Given the description of an element on the screen output the (x, y) to click on. 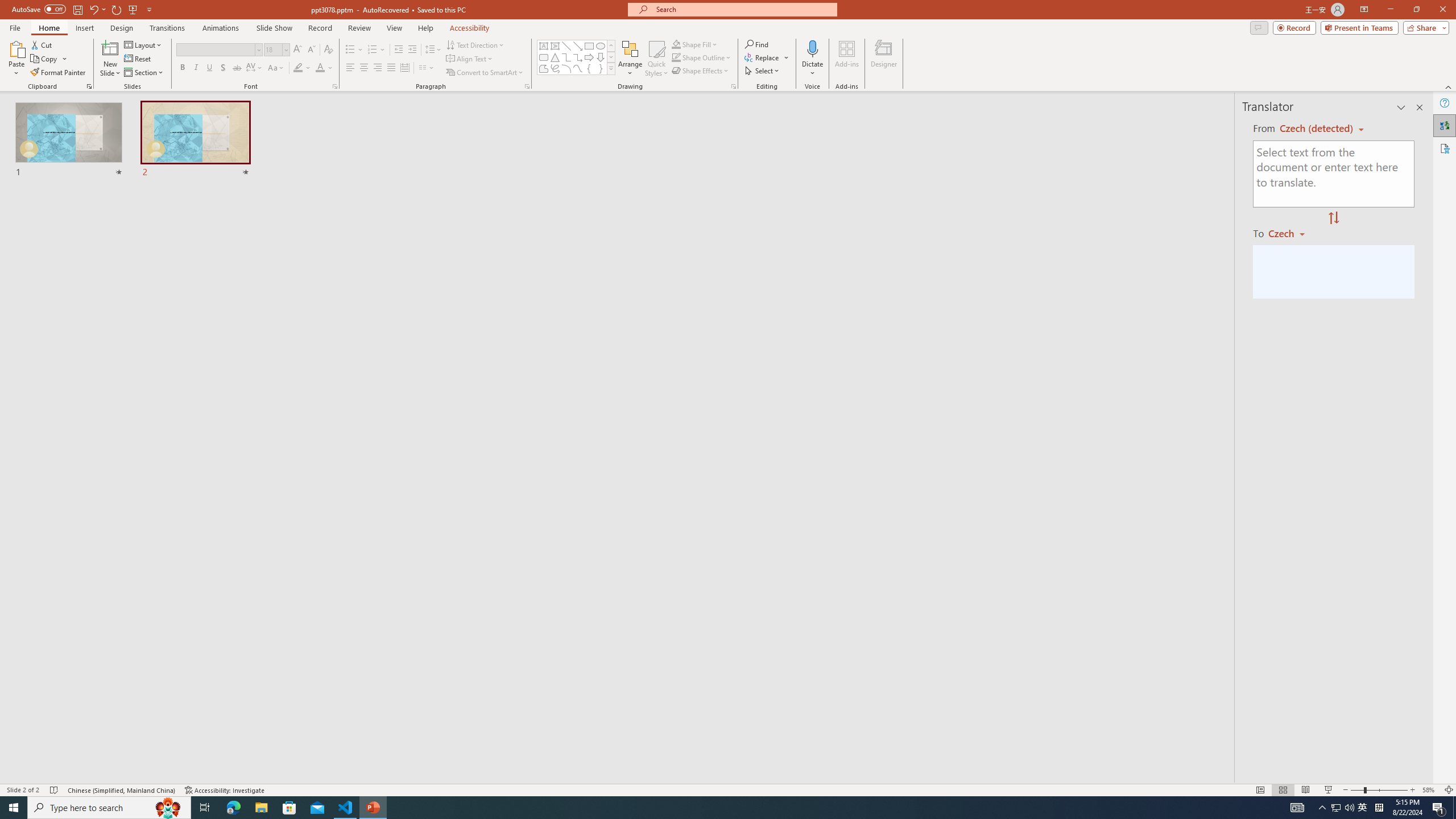
Decrease Font Size (310, 49)
Shape Outline (701, 56)
Share (1423, 27)
Quick Styles (656, 58)
Present in Teams (1359, 27)
New Slide (110, 48)
AutoSave (38, 9)
Paragraph... (526, 85)
Shape Outline Green, Accent 1 (675, 56)
Czech (detected) (1317, 128)
Text Direction (476, 44)
Zoom Out (1357, 790)
Redo (117, 9)
Cut (42, 44)
